Given the description of an element on the screen output the (x, y) to click on. 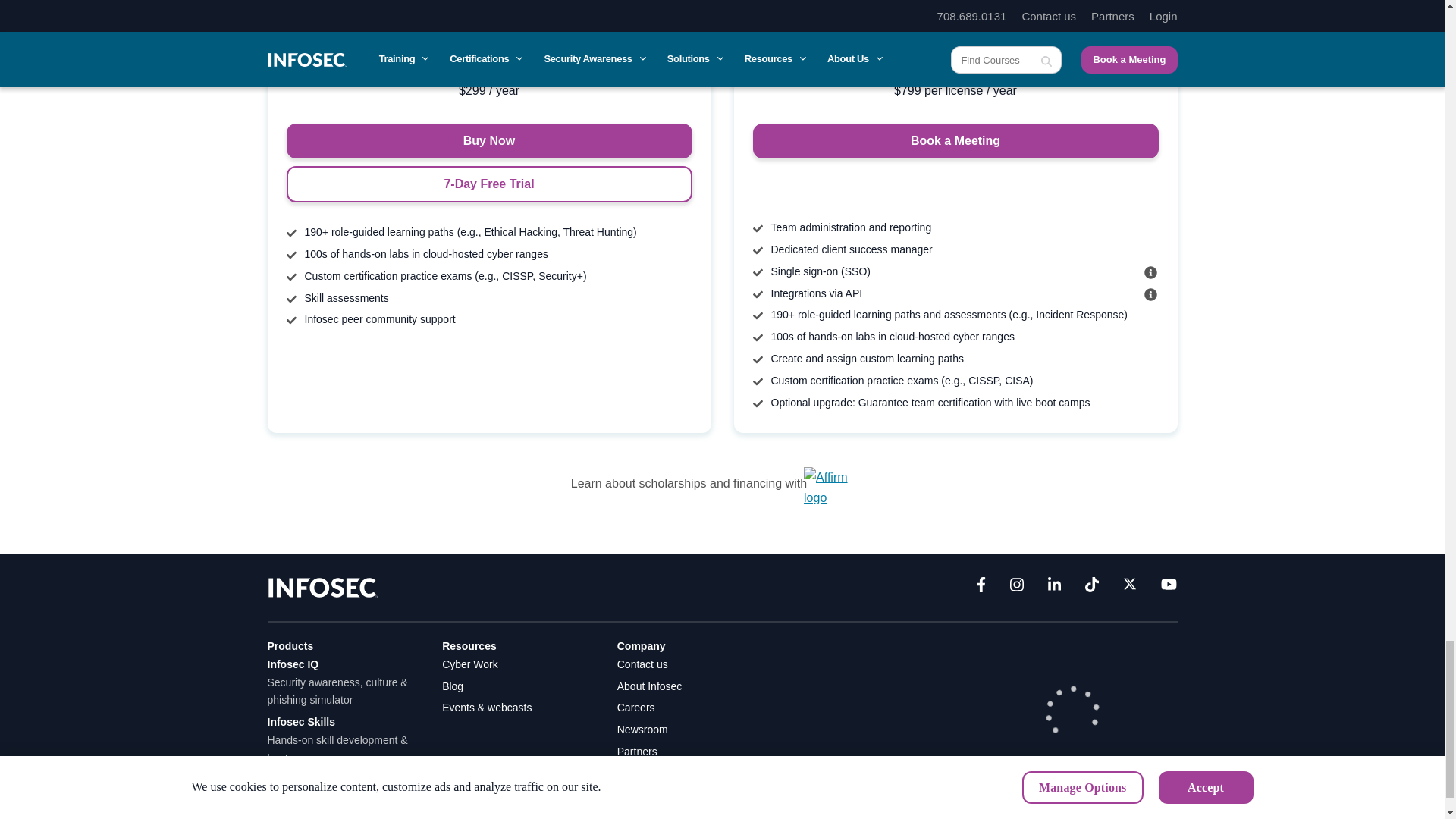
X (1129, 587)
Infosec (322, 585)
TikTok (1091, 587)
YouTube (1168, 587)
Instagram (1016, 587)
LinkedIn (1054, 587)
Book a Meeting (954, 140)
